Given the description of an element on the screen output the (x, y) to click on. 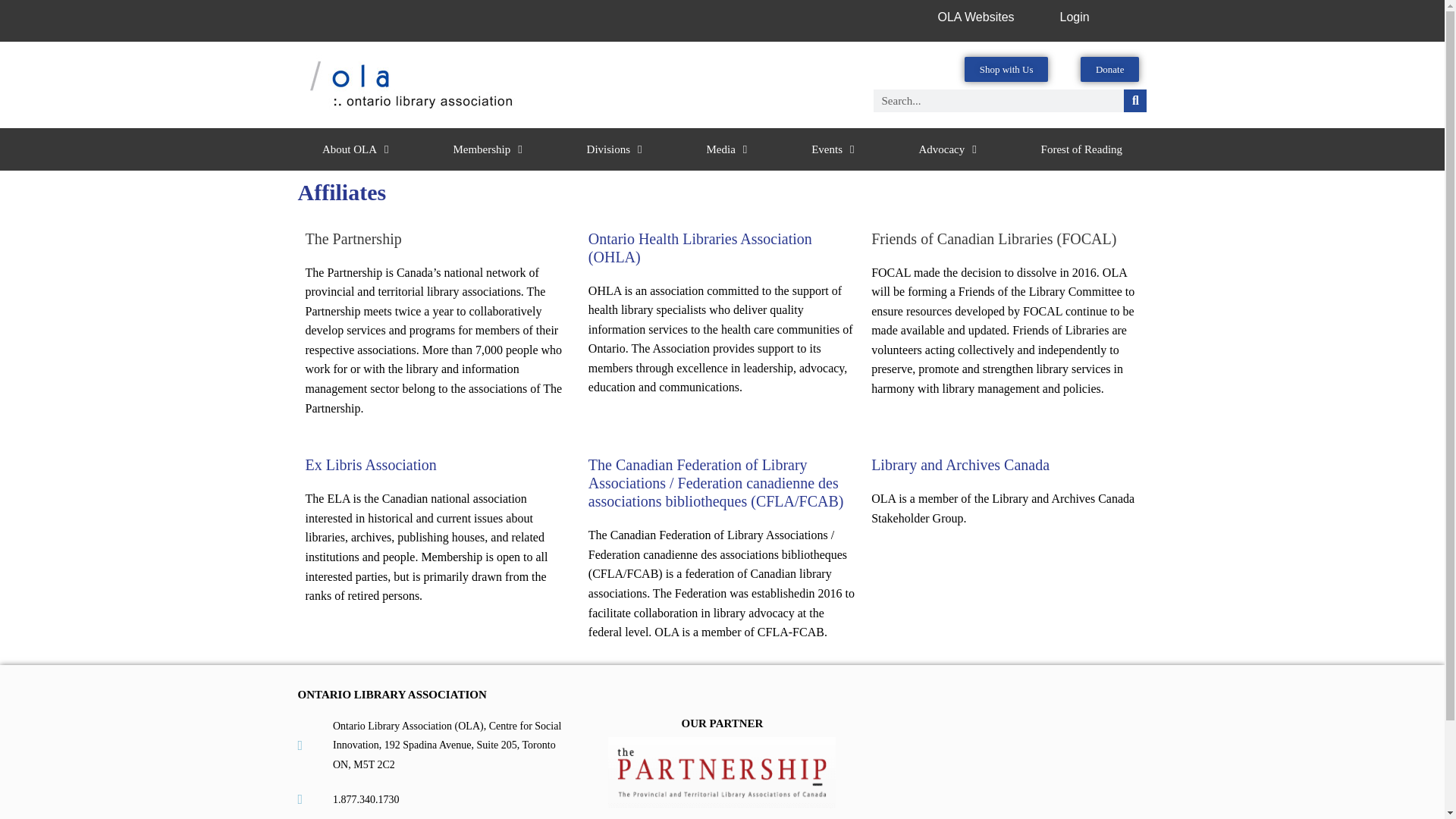
About OLA (354, 148)
Shop with Us (1005, 68)
Membership (487, 148)
Donate (1110, 68)
Login (1074, 16)
